Given the description of an element on the screen output the (x, y) to click on. 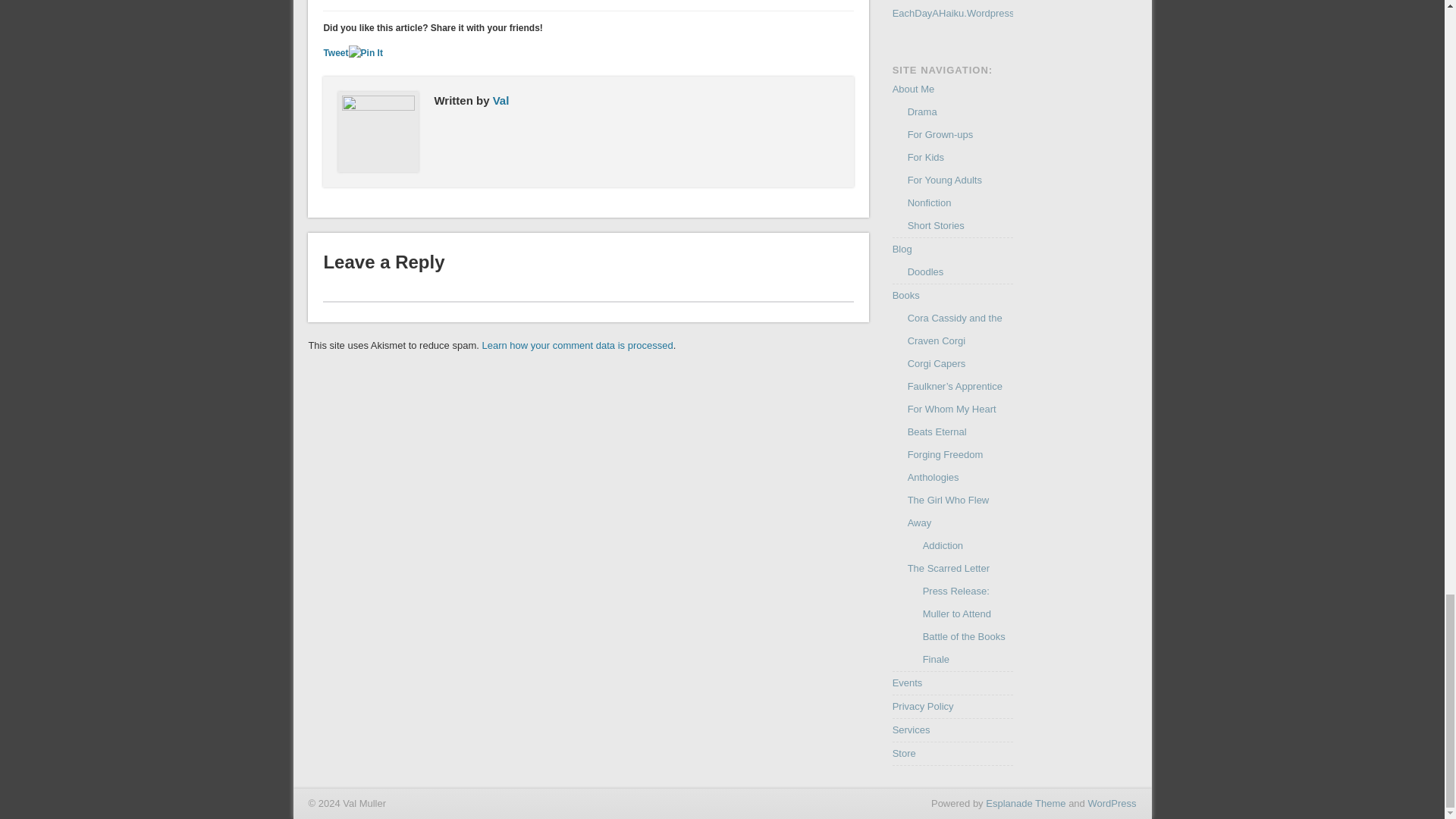
Learn how your comment data is processed (576, 345)
Val (501, 100)
Pin It (365, 53)
Esplanade Theme (1025, 803)
Posts by Val (501, 100)
WordPress (1111, 803)
Tweet (335, 52)
